Given the description of an element on the screen output the (x, y) to click on. 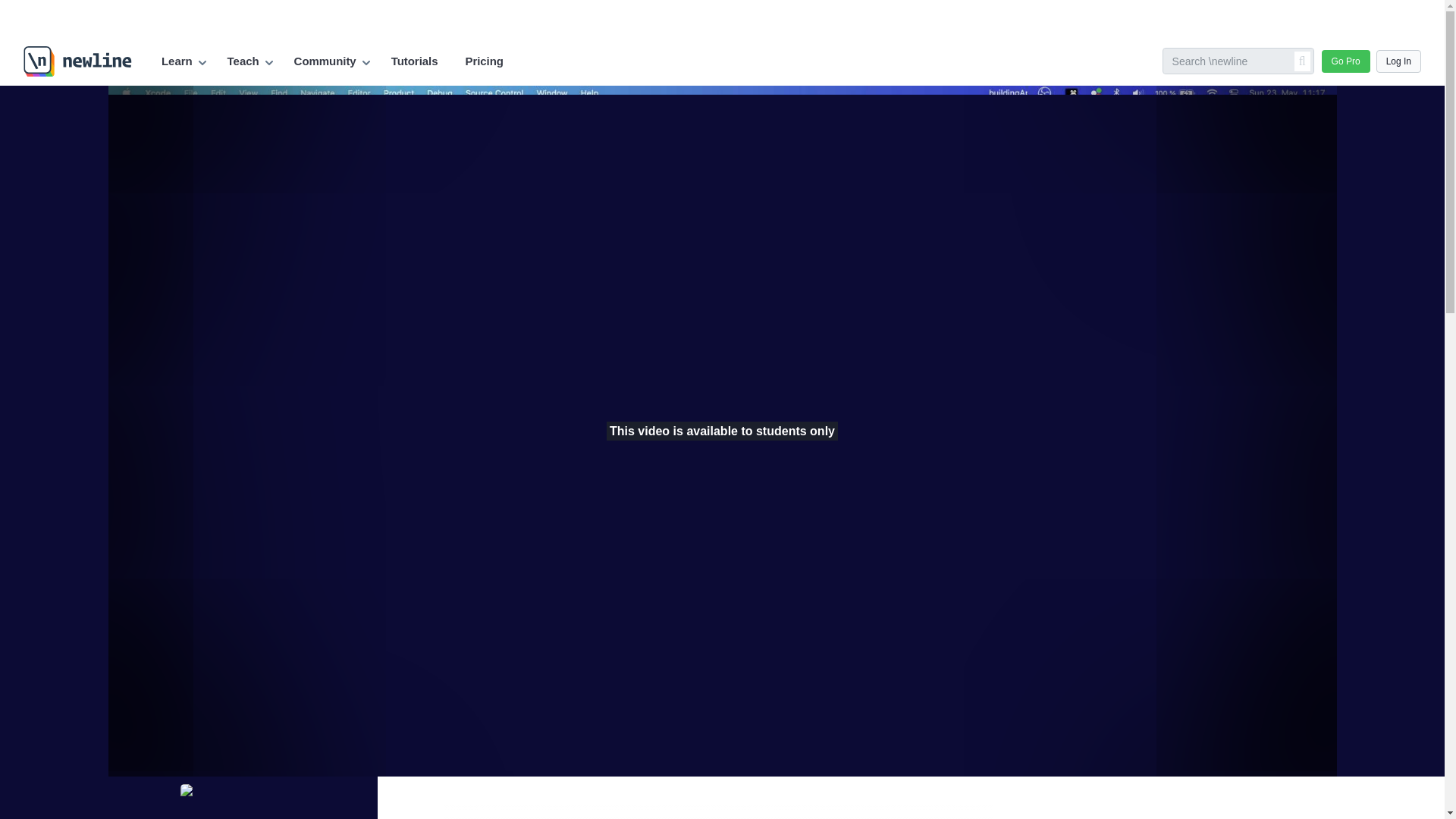
Go Pro (1346, 60)
Pricing (483, 60)
Log In (1398, 60)
Tutorials (414, 60)
Community (325, 60)
Learn (176, 60)
Teach (242, 60)
